Given the description of an element on the screen output the (x, y) to click on. 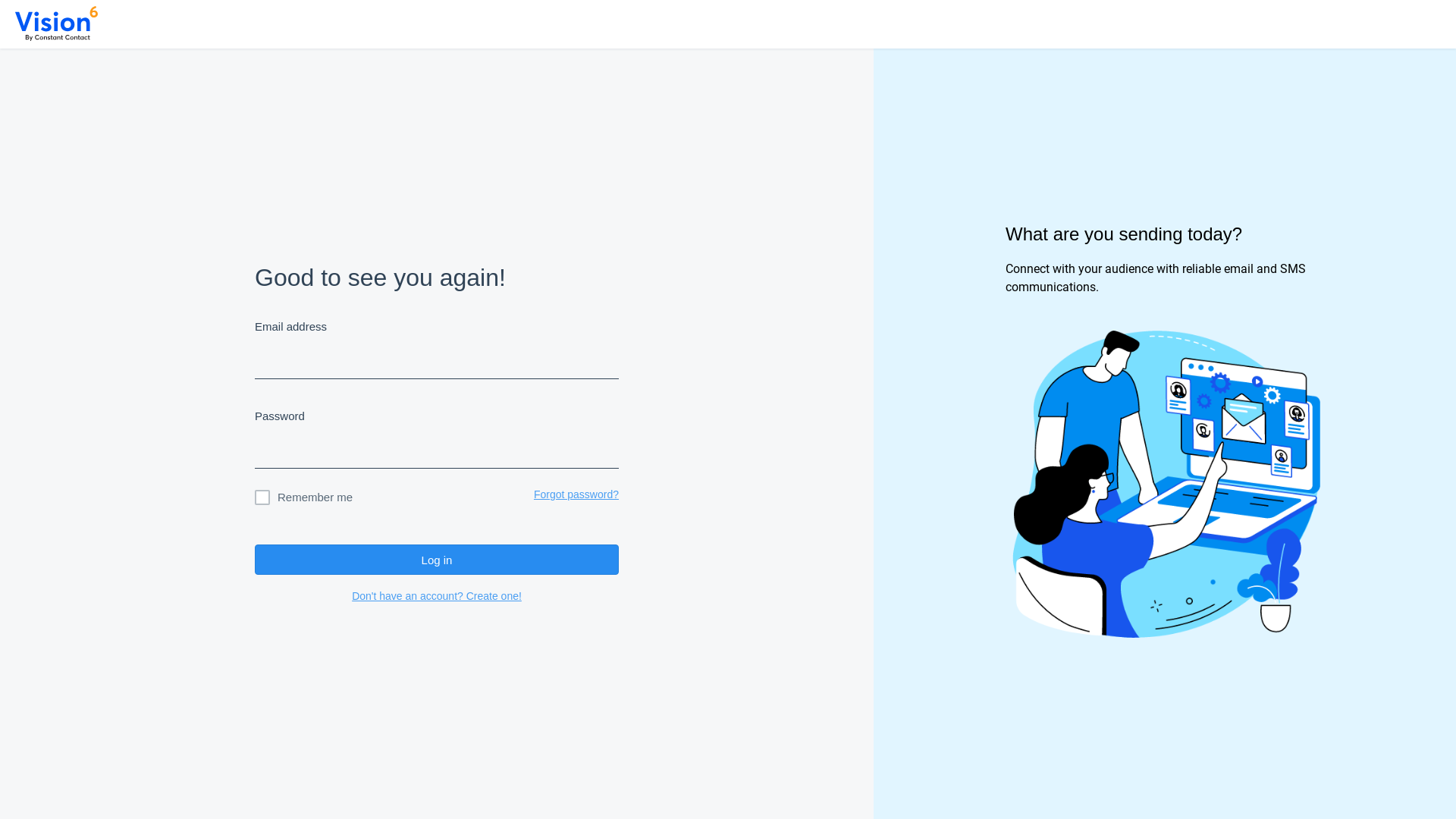
Log in Element type: text (436, 559)
Don't have an account? Create one! Element type: text (436, 595)
Forgot password? Element type: text (575, 497)
